Given the description of an element on the screen output the (x, y) to click on. 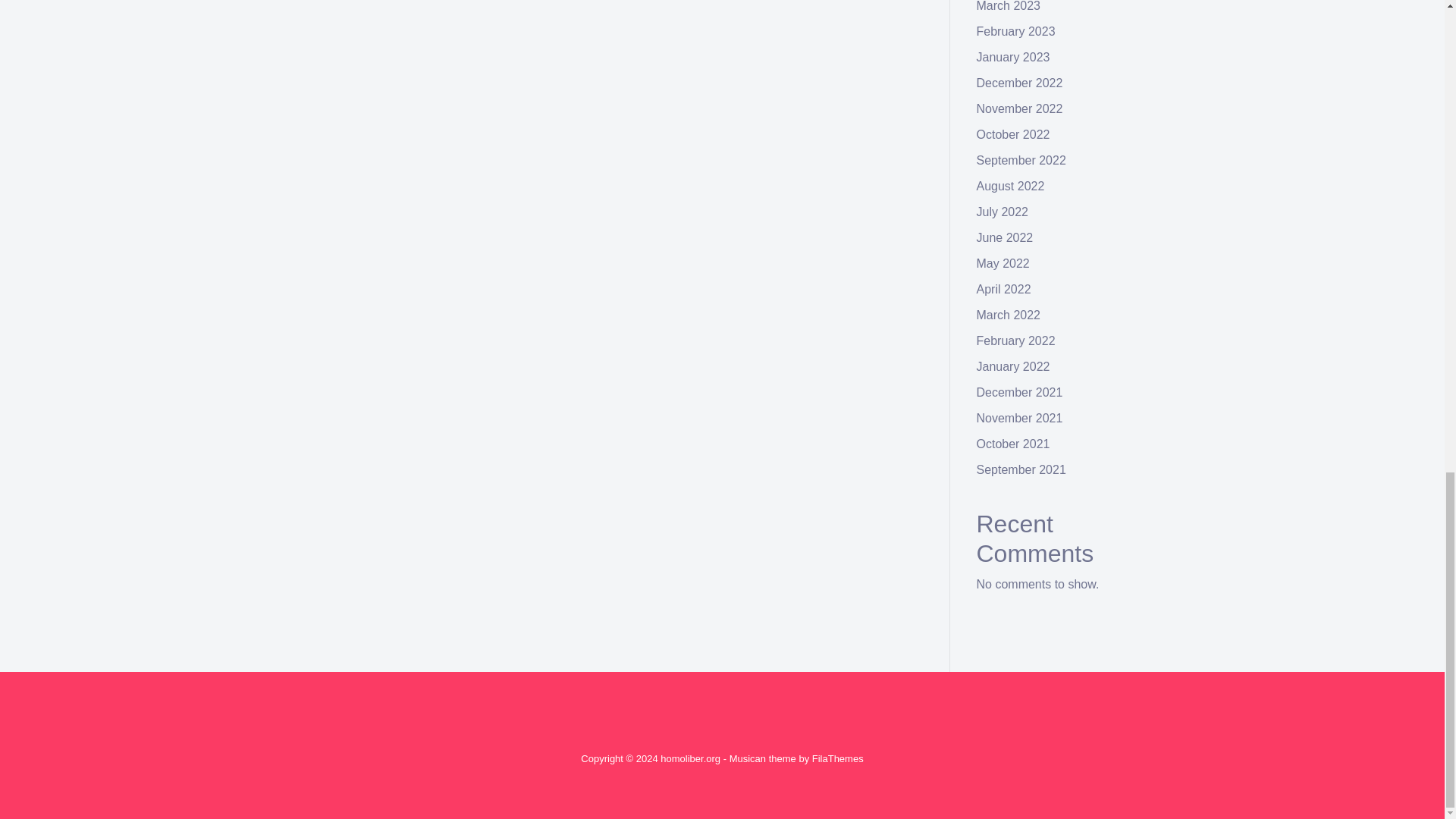
March 2023 (1008, 6)
homoliber.org (690, 758)
February 2023 (1015, 31)
